Given the description of an element on the screen output the (x, y) to click on. 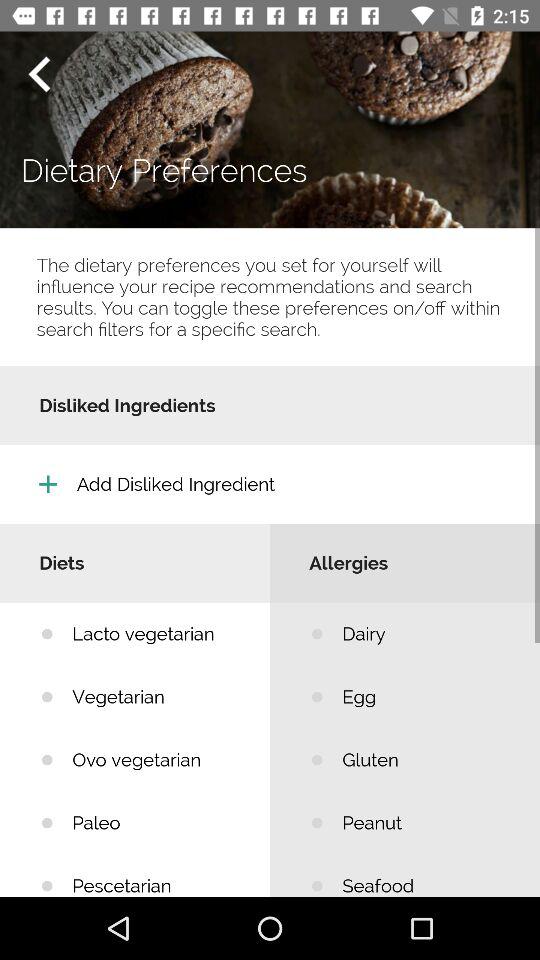
open the icon above the the dietary preferences item (39, 74)
